Given the description of an element on the screen output the (x, y) to click on. 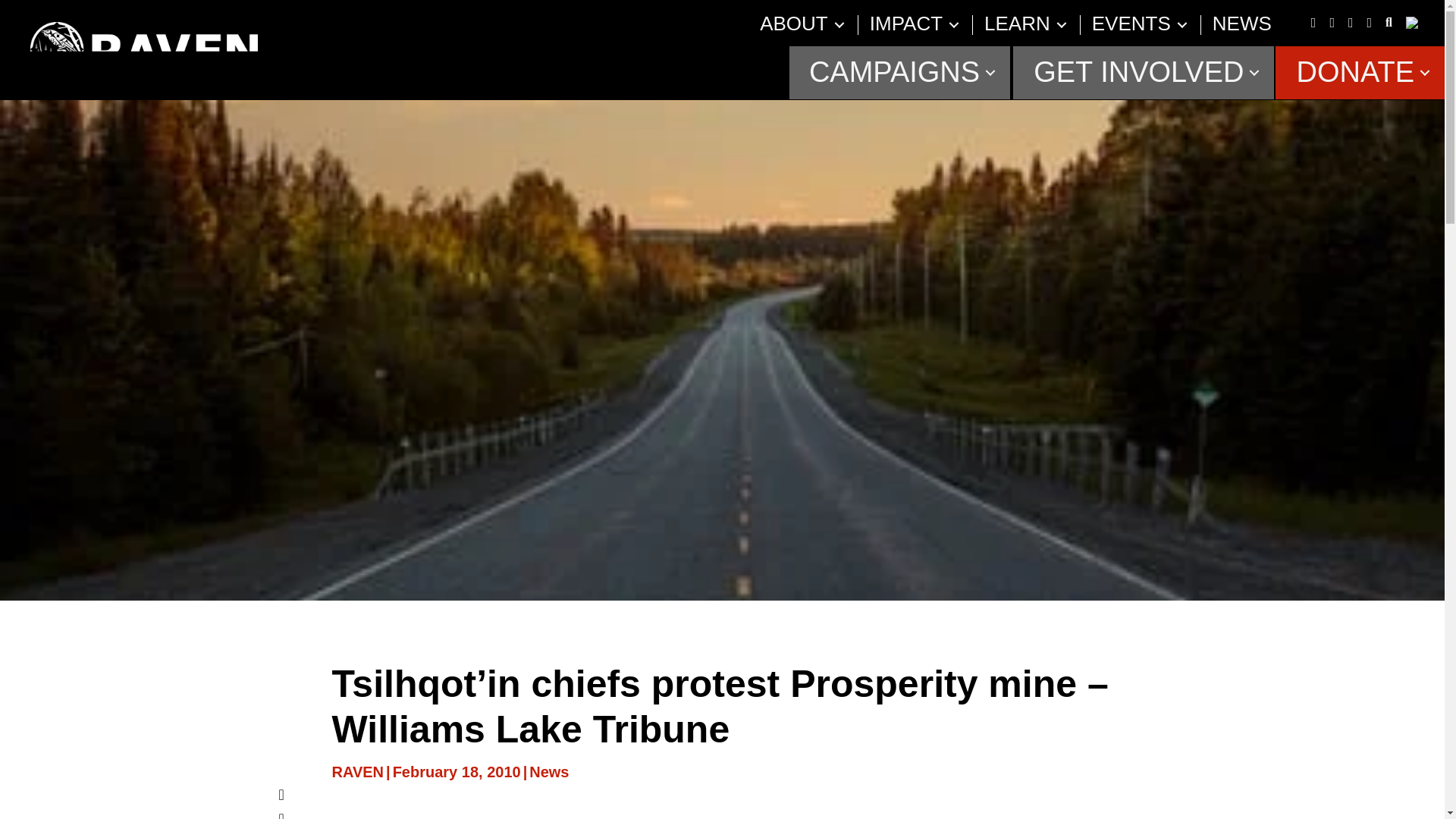
LEARN (1016, 24)
CAMPAIGNS (899, 72)
EVENTS (1131, 24)
IMPACT (906, 24)
ABOUT (794, 24)
NEWS (1241, 24)
Asset 1 (143, 49)
